Given the description of an element on the screen output the (x, y) to click on. 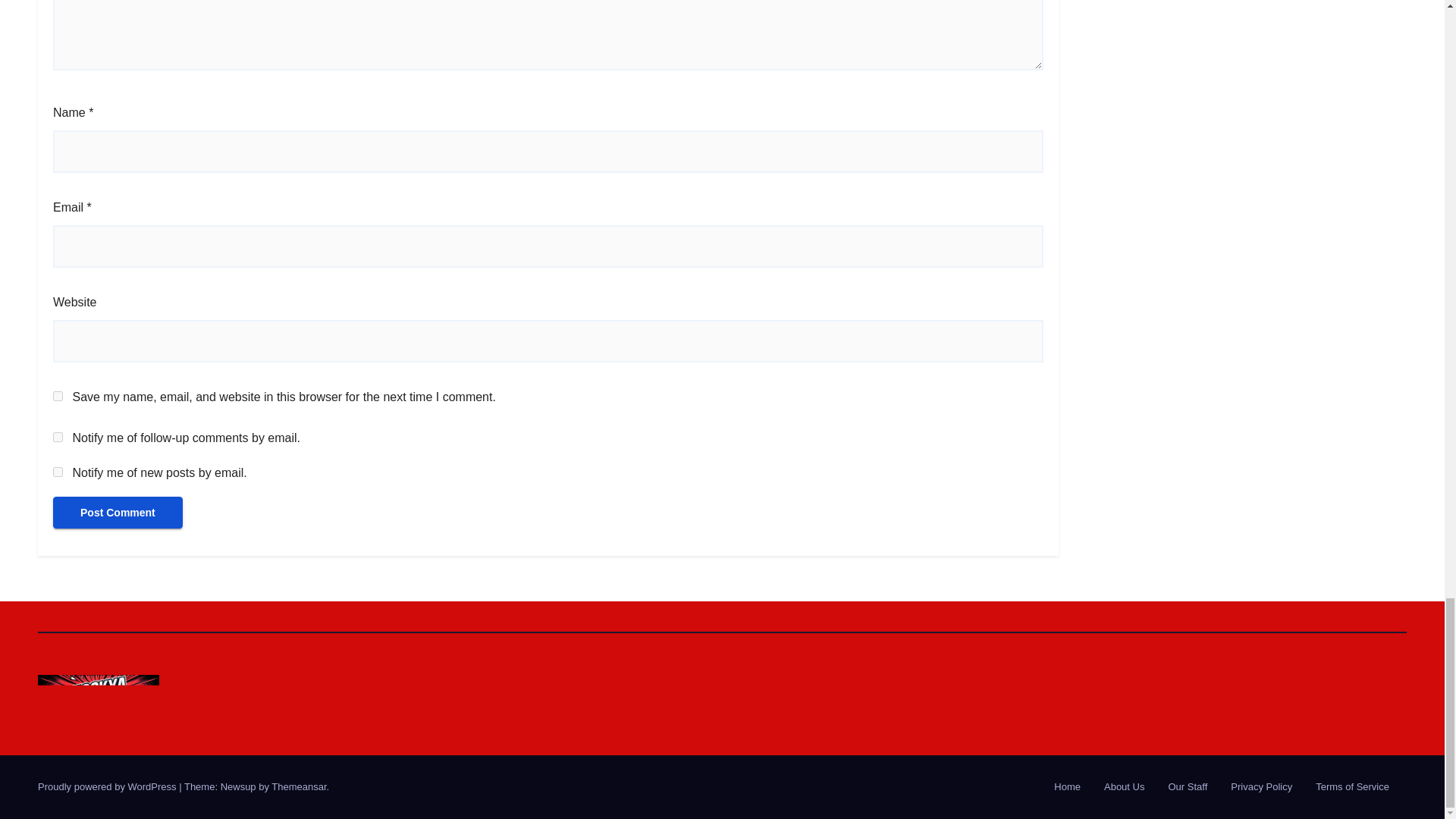
subscribe (57, 471)
Post Comment (117, 512)
subscribe (57, 437)
Home (1067, 786)
yes (57, 396)
Post Comment (117, 512)
